Given the description of an element on the screen output the (x, y) to click on. 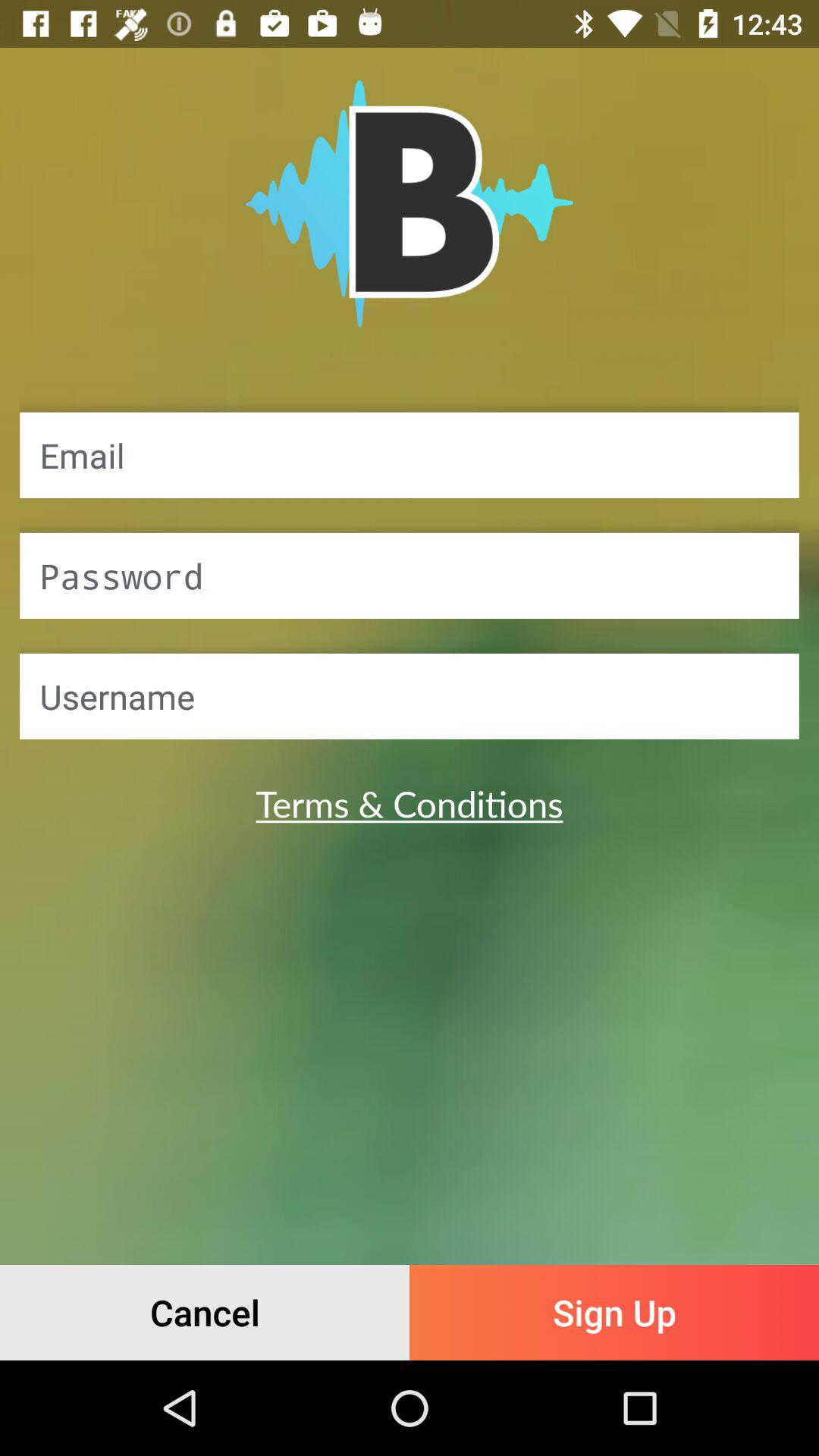
select sign up item (614, 1312)
